Given the description of an element on the screen output the (x, y) to click on. 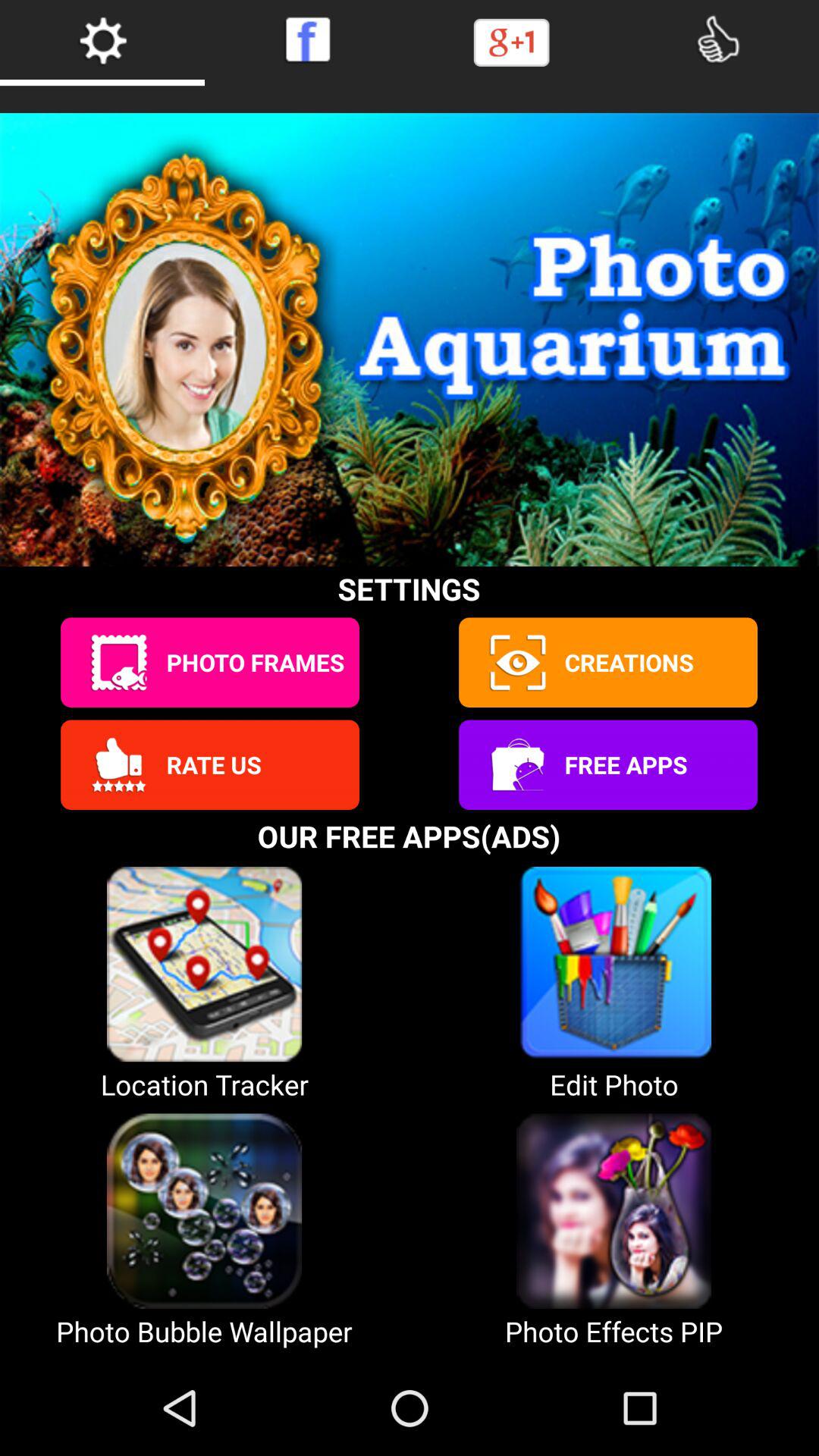
select item (516, 662)
